Given the description of an element on the screen output the (x, y) to click on. 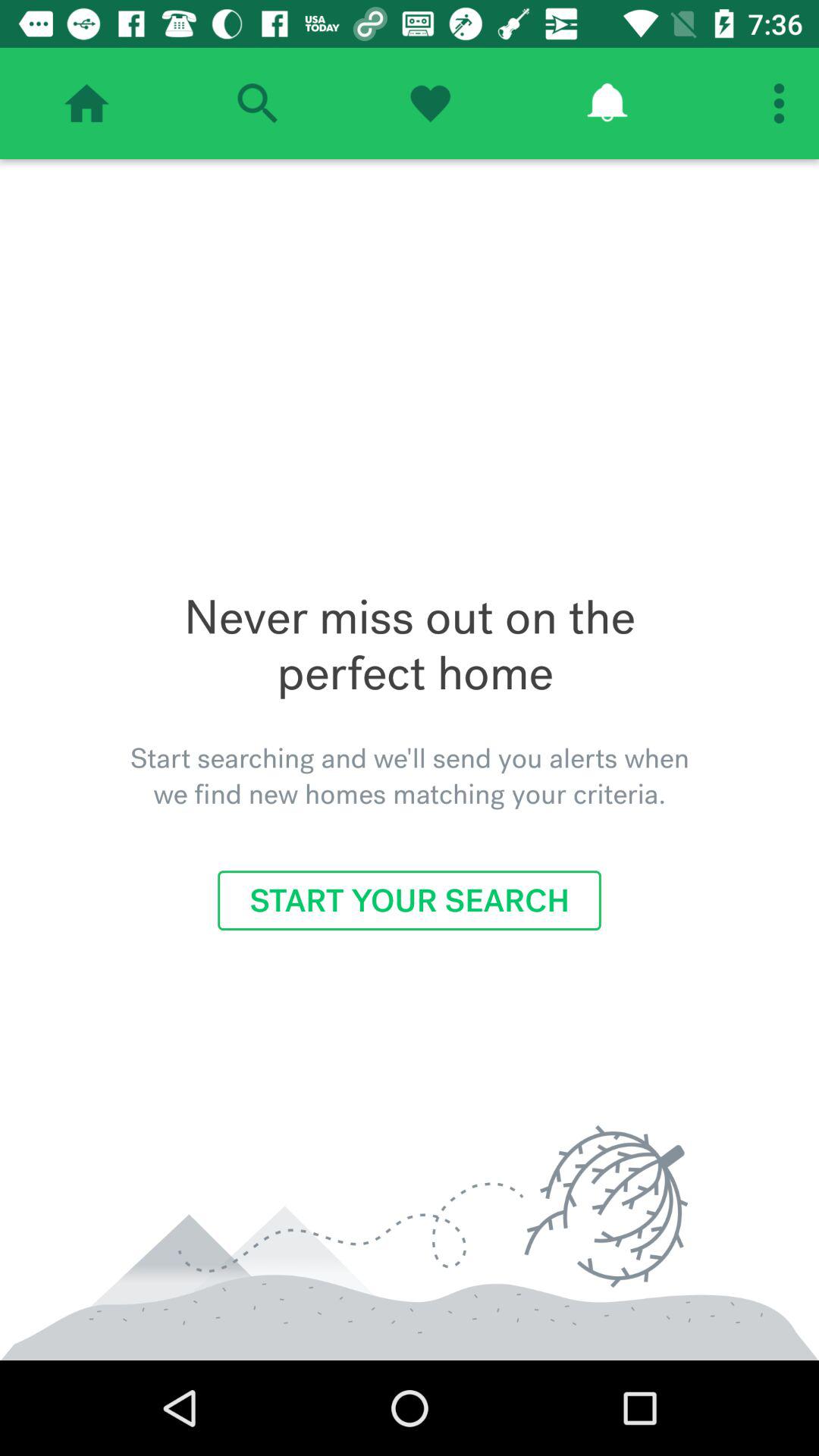
alerts page (606, 103)
